Given the description of an element on the screen output the (x, y) to click on. 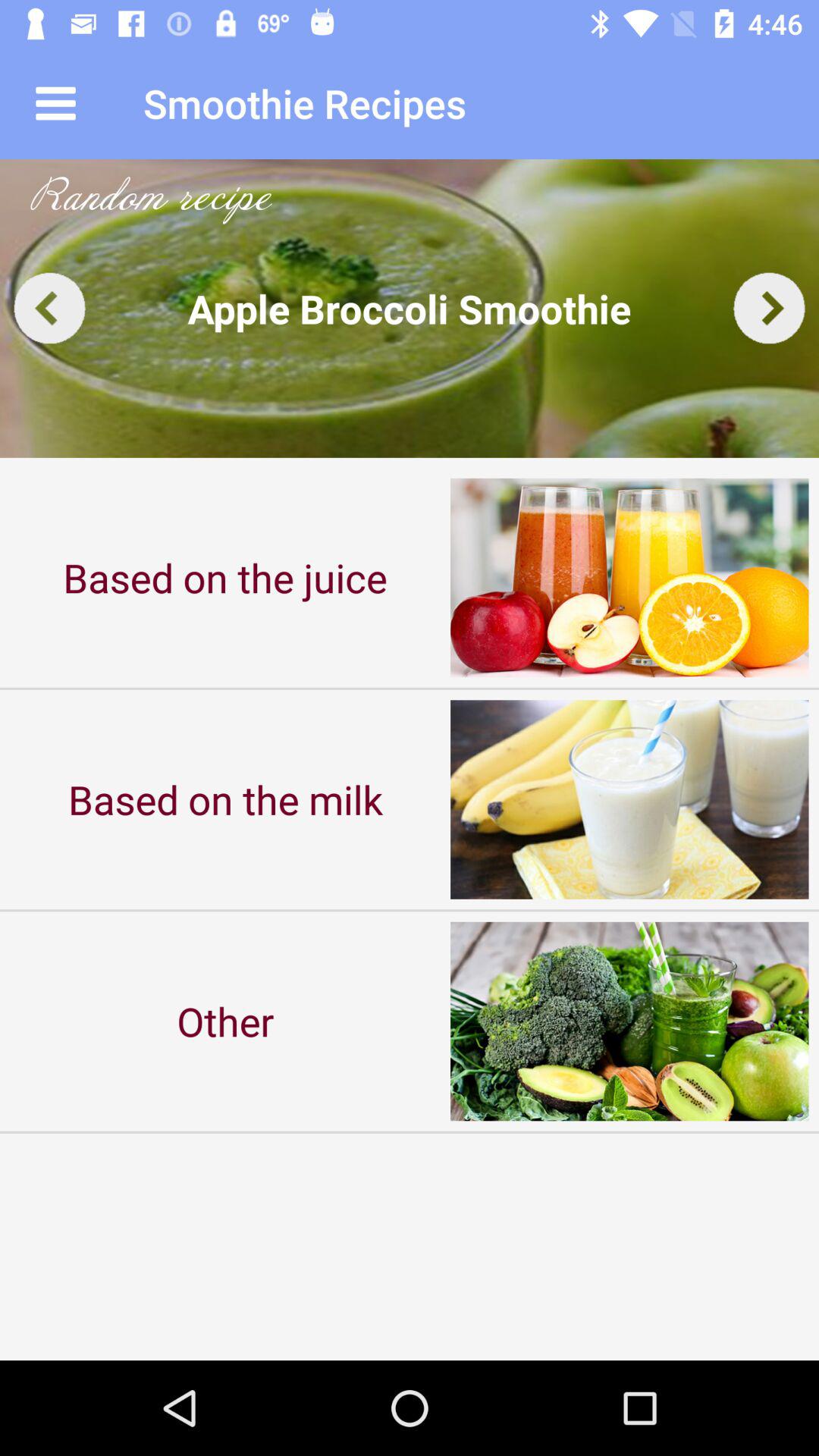
jump to the other item (225, 1020)
